Given the description of an element on the screen output the (x, y) to click on. 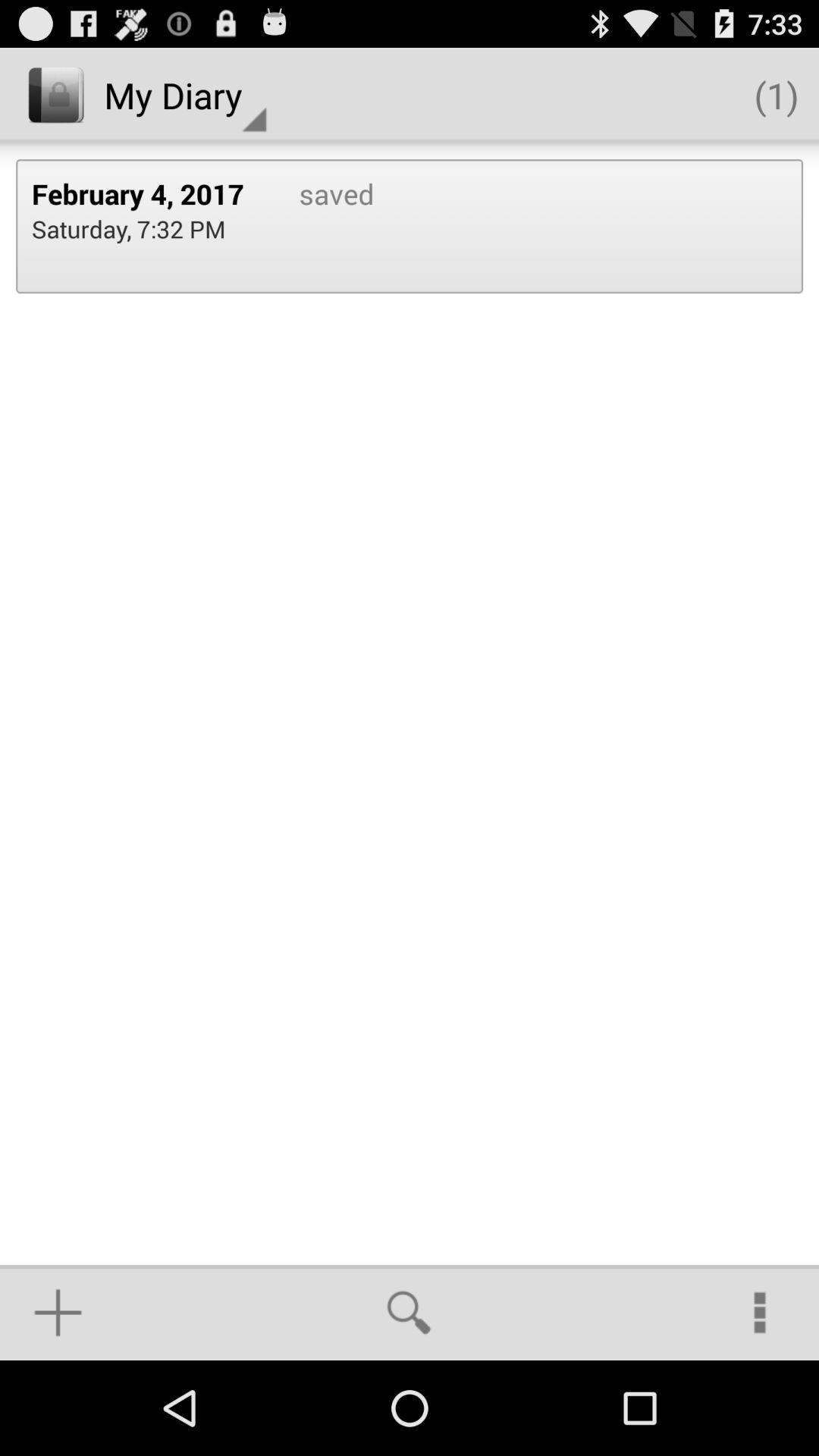
turn on item to the left of (1) app (185, 95)
